Given the description of an element on the screen output the (x, y) to click on. 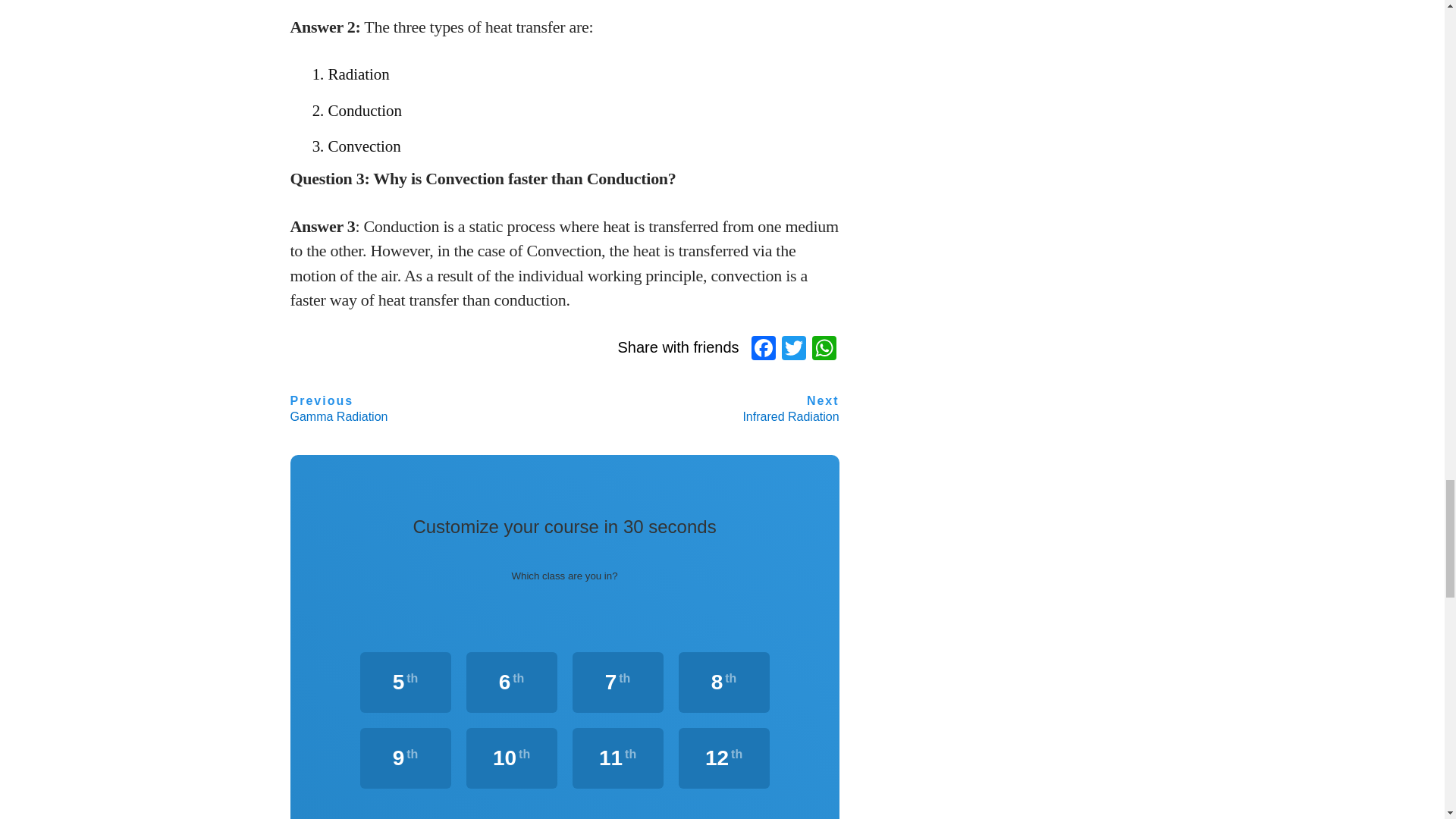
WhatsApp (824, 349)
Twitter (793, 349)
Gamma Radiation (338, 409)
Facebook (763, 349)
Infrared Radiation (790, 409)
